Given the description of an element on the screen output the (x, y) to click on. 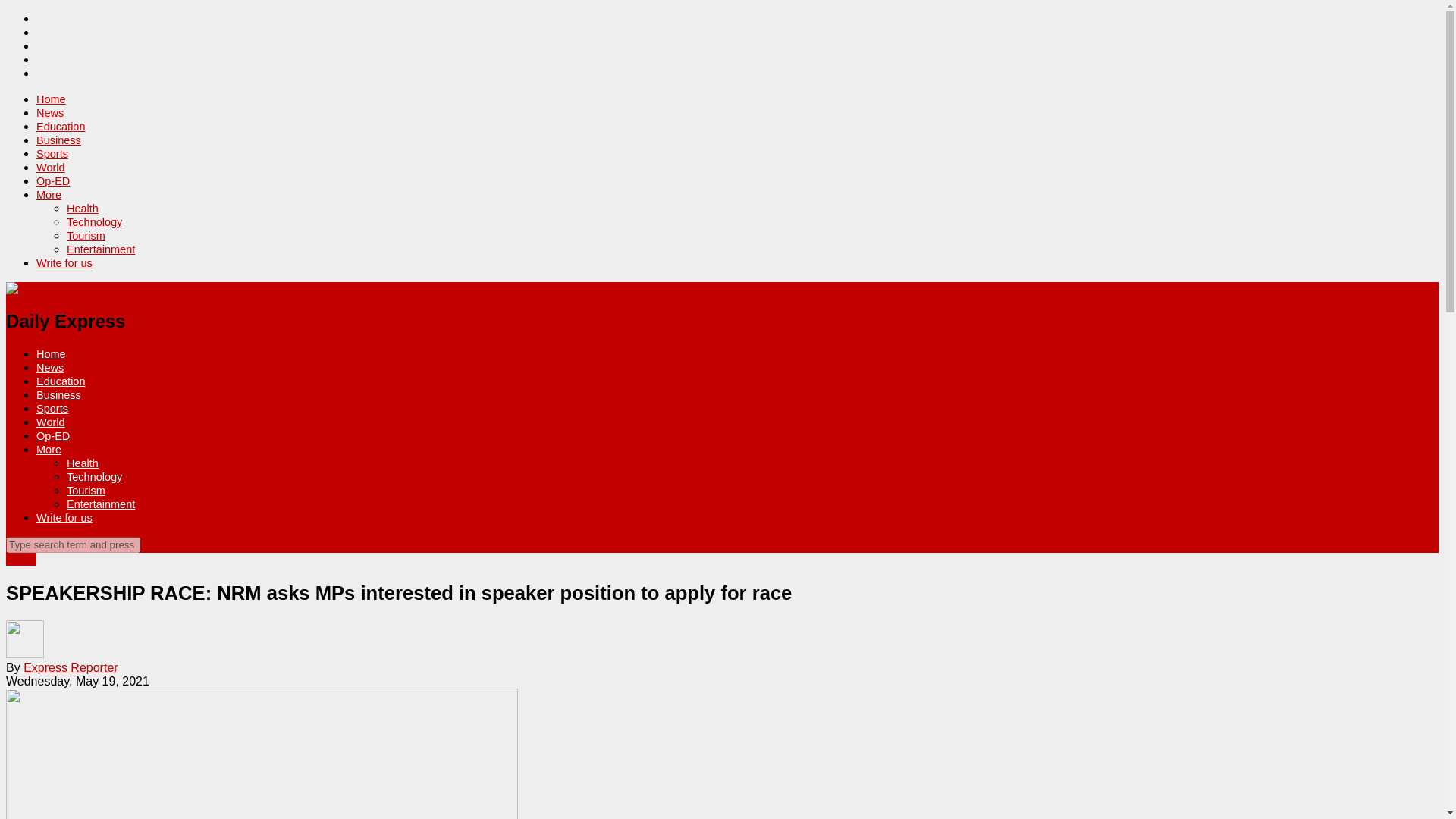
Sports (52, 408)
Home (50, 99)
More (48, 194)
Op-ED (52, 435)
Type search term and press enter (72, 544)
Technology (94, 222)
Tourism (85, 490)
Entertainment (100, 503)
Business (58, 395)
Op-ED (52, 181)
